Given the description of an element on the screen output the (x, y) to click on. 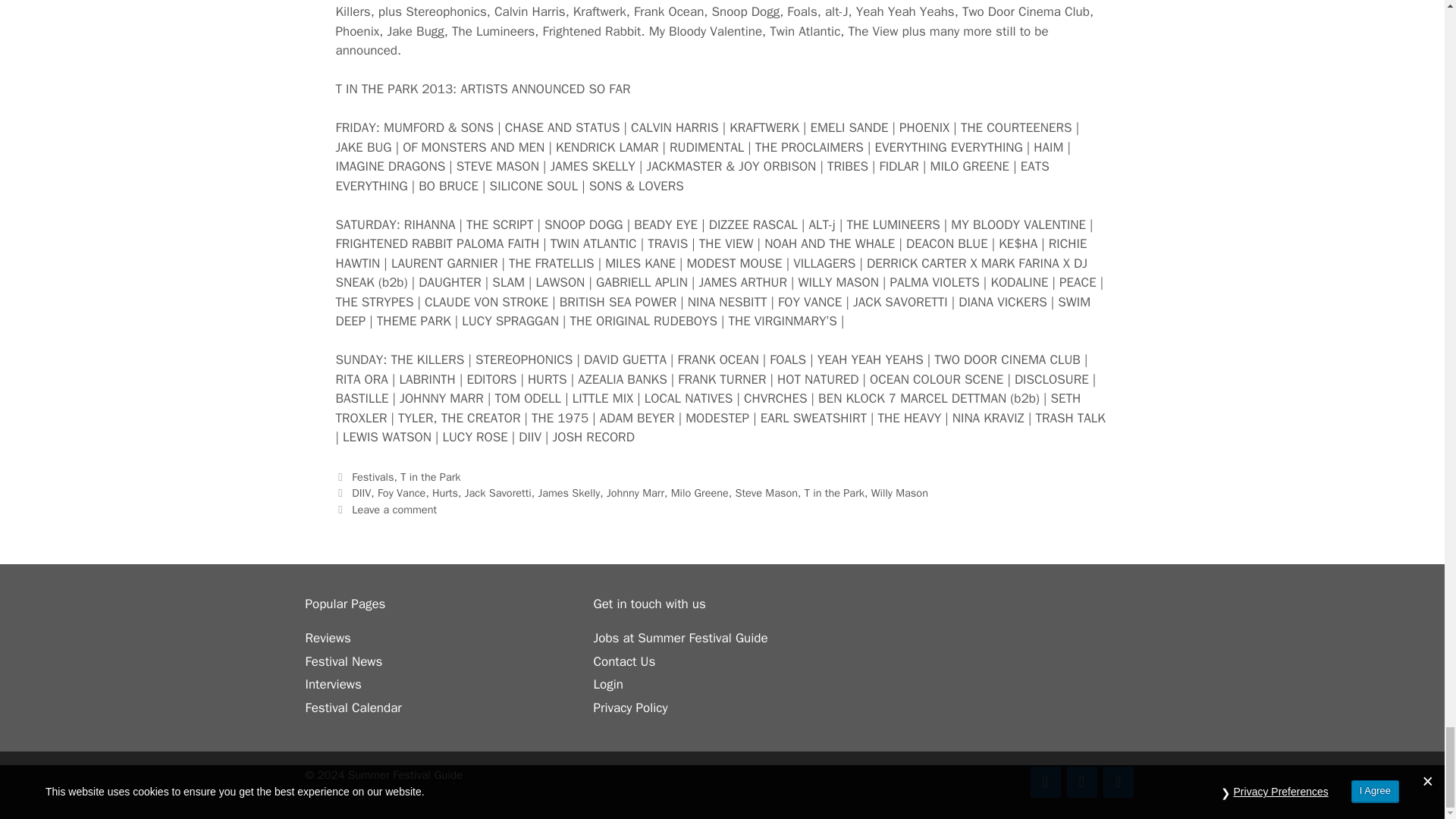
Twitter (1080, 781)
Facebook (1044, 781)
Instagram (1117, 781)
